Given the description of an element on the screen output the (x, y) to click on. 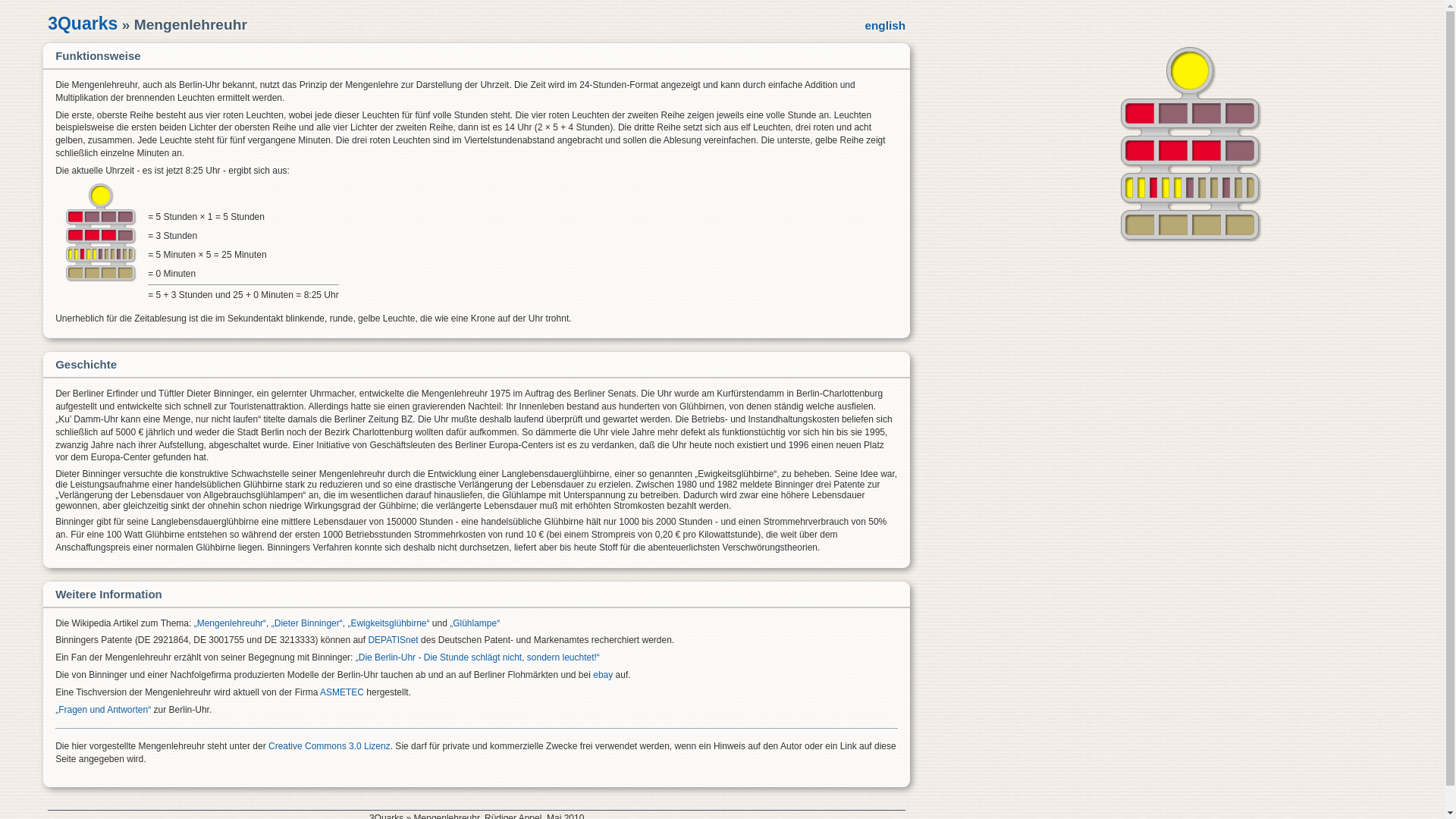
ebay Element type: text (602, 674)
Creative Commons 3.0 Lizenz Element type: text (329, 745)
english Element type: text (884, 24)
DEPATISnet Element type: text (392, 639)
ASMETEC Element type: text (342, 692)
3Quarks Element type: text (82, 23)
